Given the description of an element on the screen output the (x, y) to click on. 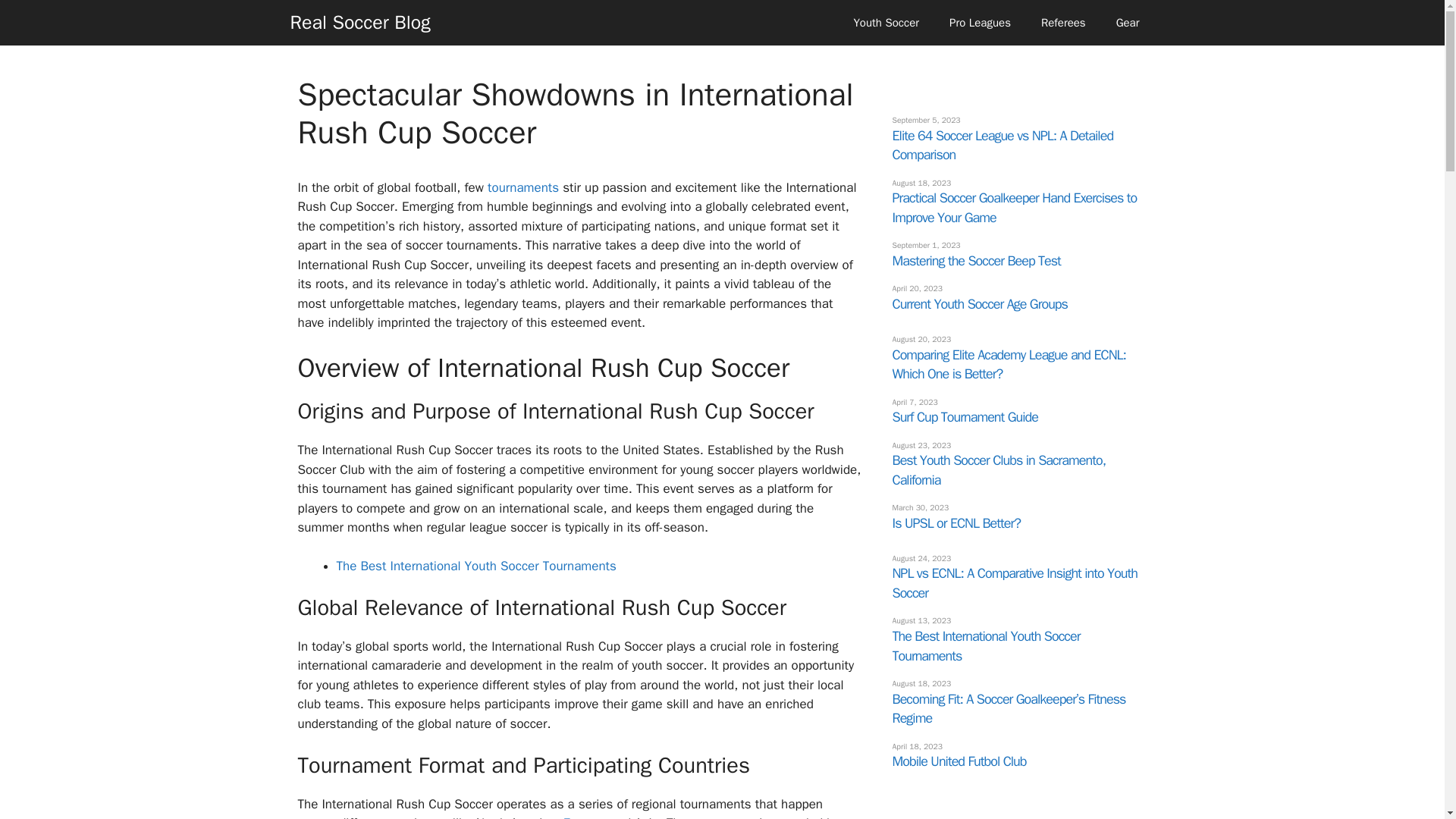
Is UPSL or ECNL Better? (955, 523)
Surf Cup Tournament Guide (963, 416)
NPL vs ECNL: A Comparative Insight into Youth Soccer (1014, 583)
Youth Soccer (886, 22)
The Best International Youth Soccer Tournaments (475, 565)
Current Youth Soccer Age Groups (979, 303)
The Best International Youth Soccer Tournaments (985, 646)
Best Youth Soccer Clubs in Sacramento, California (998, 470)
Referees (1063, 22)
